Given the description of an element on the screen output the (x, y) to click on. 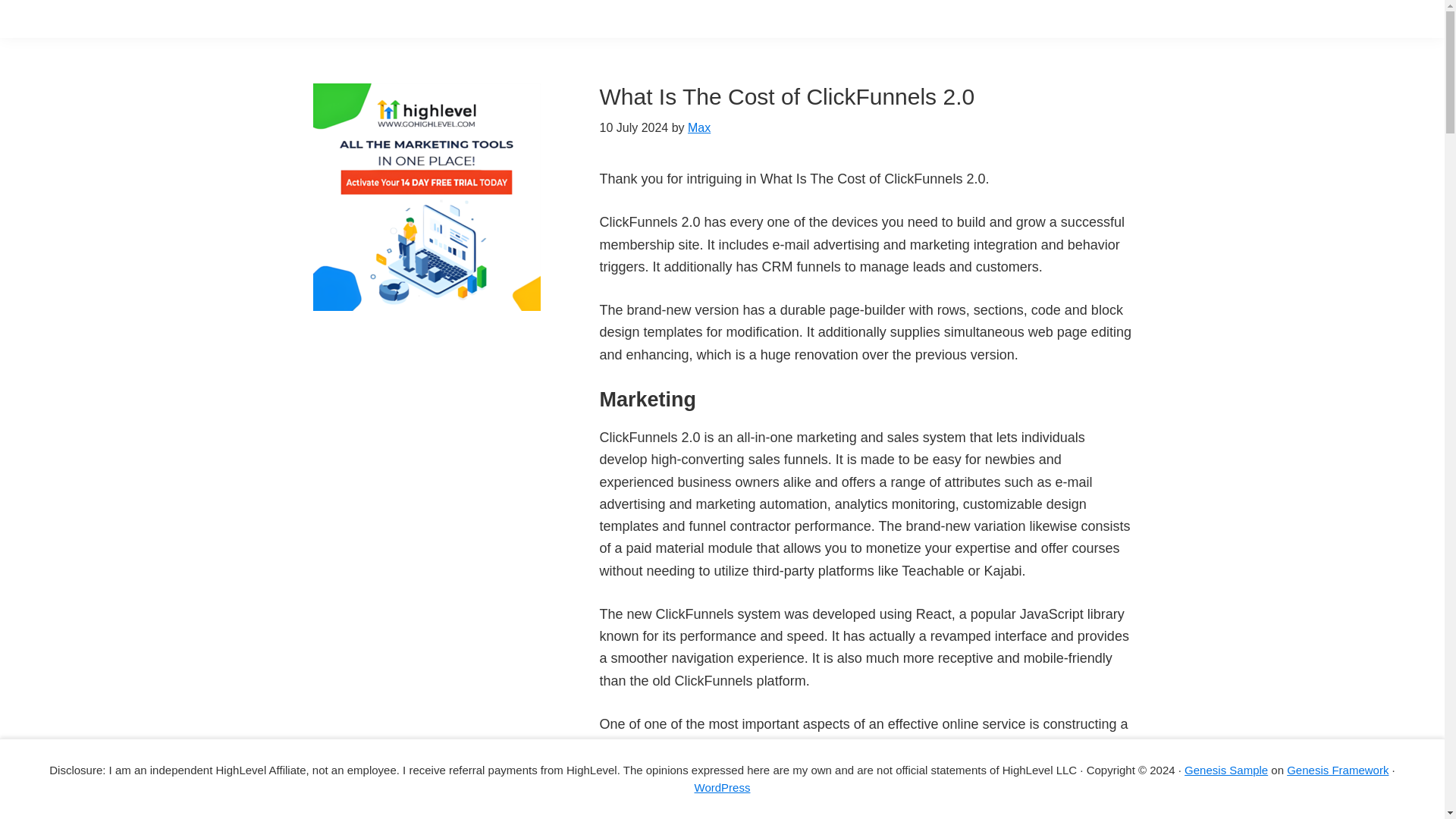
Max (698, 127)
Genesis Sample (1226, 769)
WordPress (722, 787)
Genesis Framework (1338, 769)
